Given the description of an element on the screen output the (x, y) to click on. 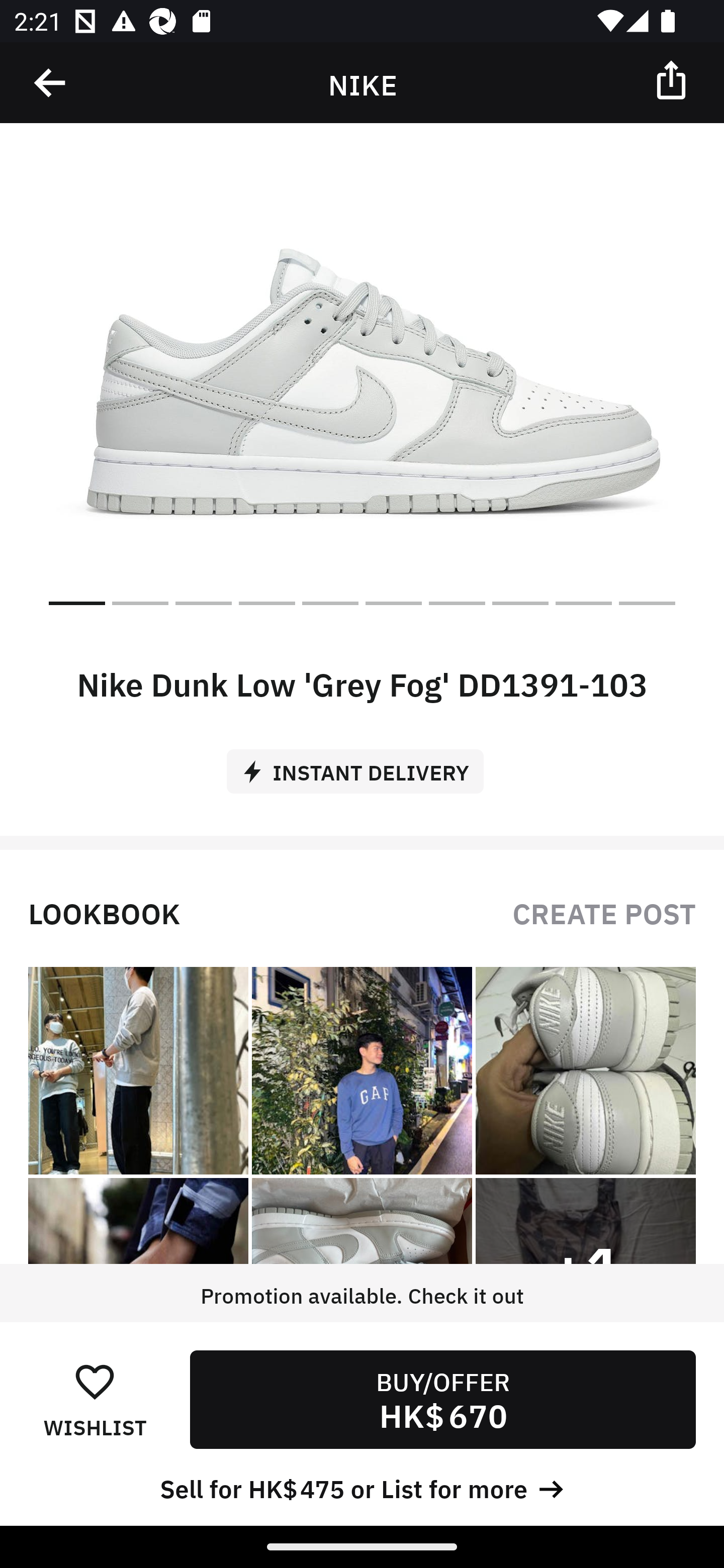
 (50, 83)
 (672, 79)
 INSTANT DELIVERY (362, 764)
CREATE POST (603, 911)
BUY/OFFER HK$ 670 (442, 1399)
󰋕 (94, 1380)
Sell for HK$ 475 or List for more (361, 1486)
